Given the description of an element on the screen output the (x, y) to click on. 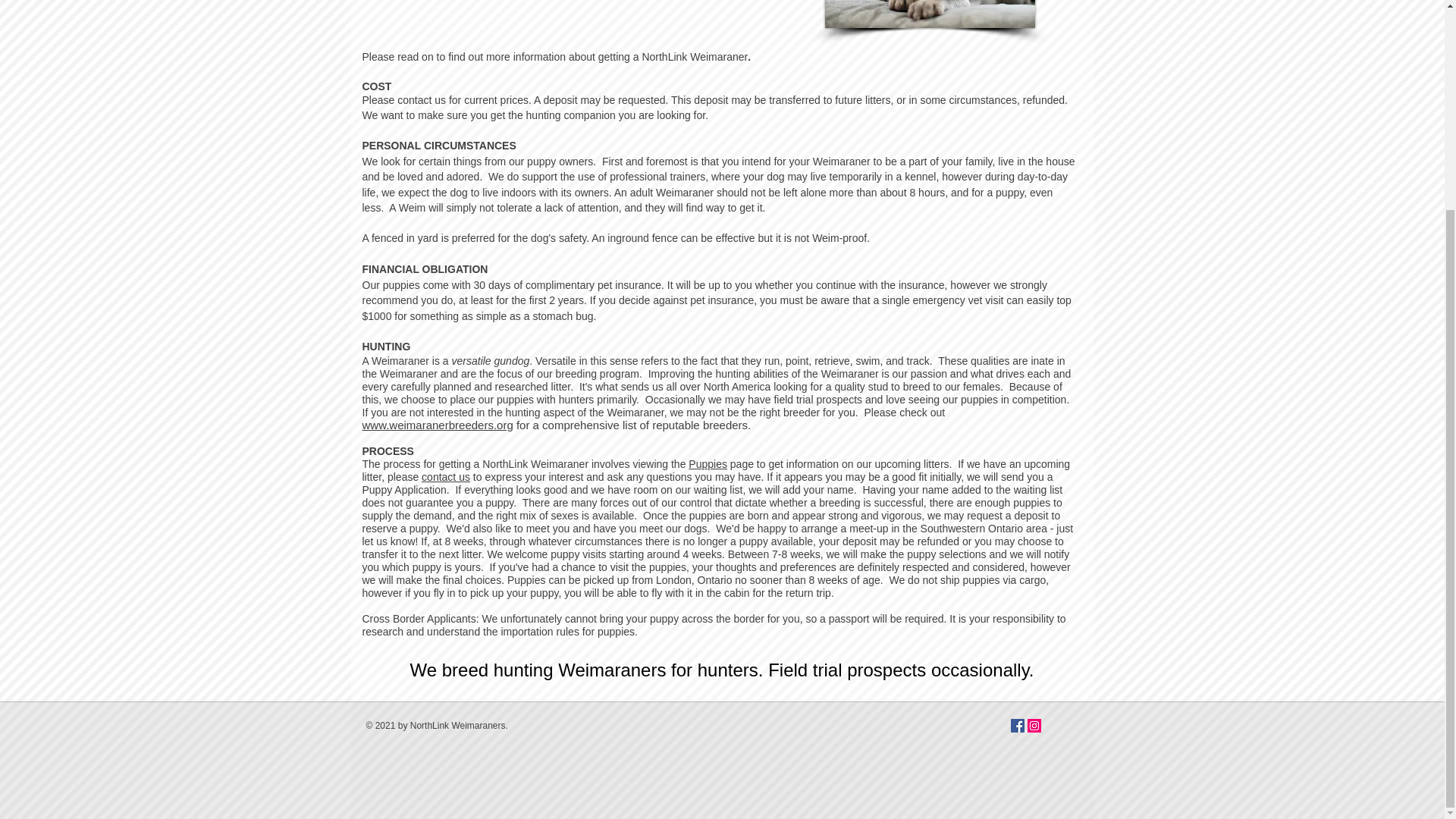
contact us (446, 476)
Puppies (707, 463)
www.weimaranerbreeders.org (437, 424)
